Given the description of an element on the screen output the (x, y) to click on. 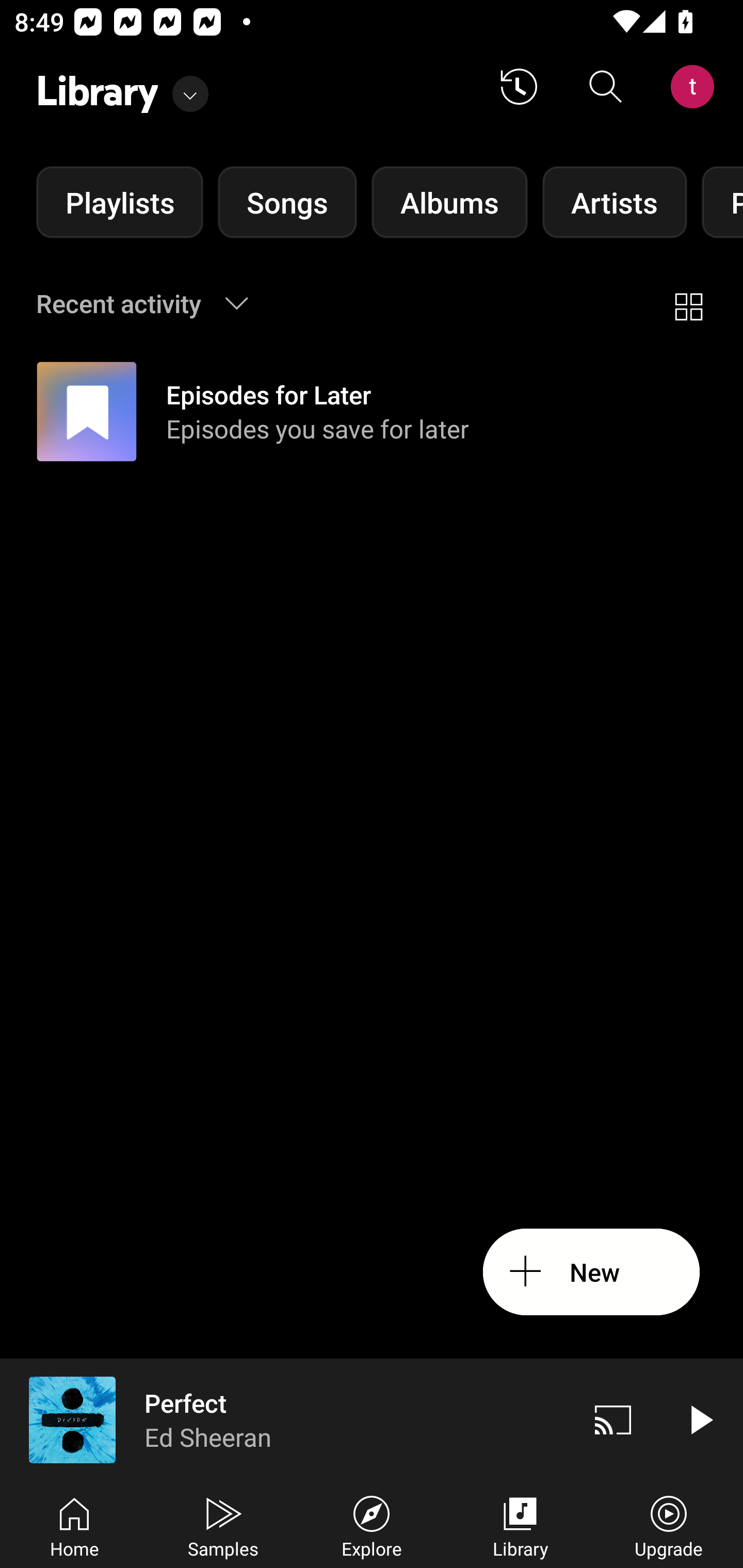
Show library landing selected Library (121, 86)
History (518, 86)
Search (605, 86)
Account (696, 86)
Recent activity selected Recent activity (154, 303)
Show in grid view (688, 303)
New (590, 1272)
Perfect Ed Sheeran (284, 1419)
Cast. Disconnected (612, 1419)
Play video (699, 1419)
Home (74, 1524)
Samples (222, 1524)
Explore (371, 1524)
Upgrade (668, 1524)
